Given the description of an element on the screen output the (x, y) to click on. 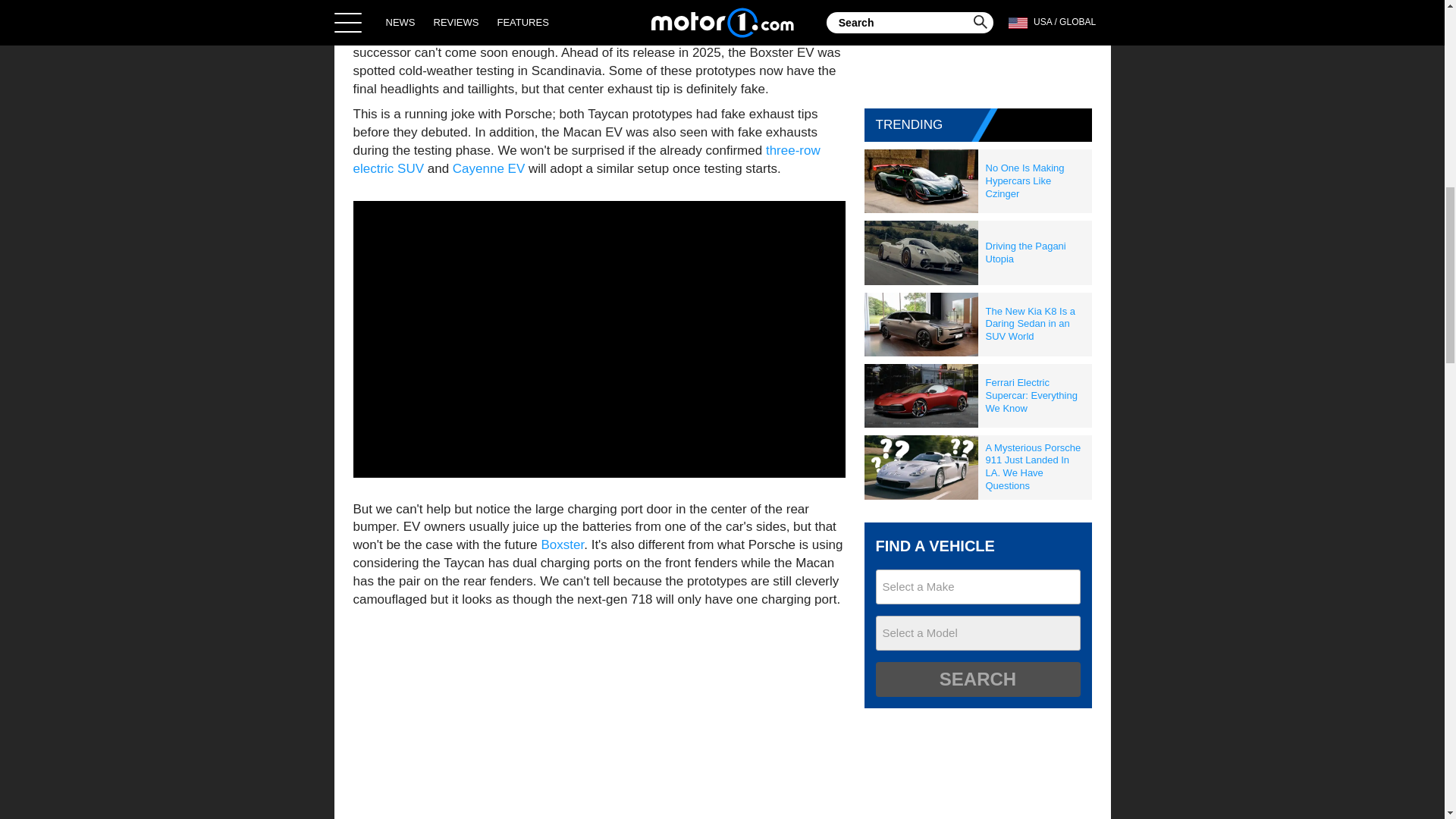
three-row electric SUV (587, 159)
cybersecurity regulations (683, 34)
Search (977, 678)
Boxster (563, 544)
Cayenne EV (488, 168)
